Given the description of an element on the screen output the (x, y) to click on. 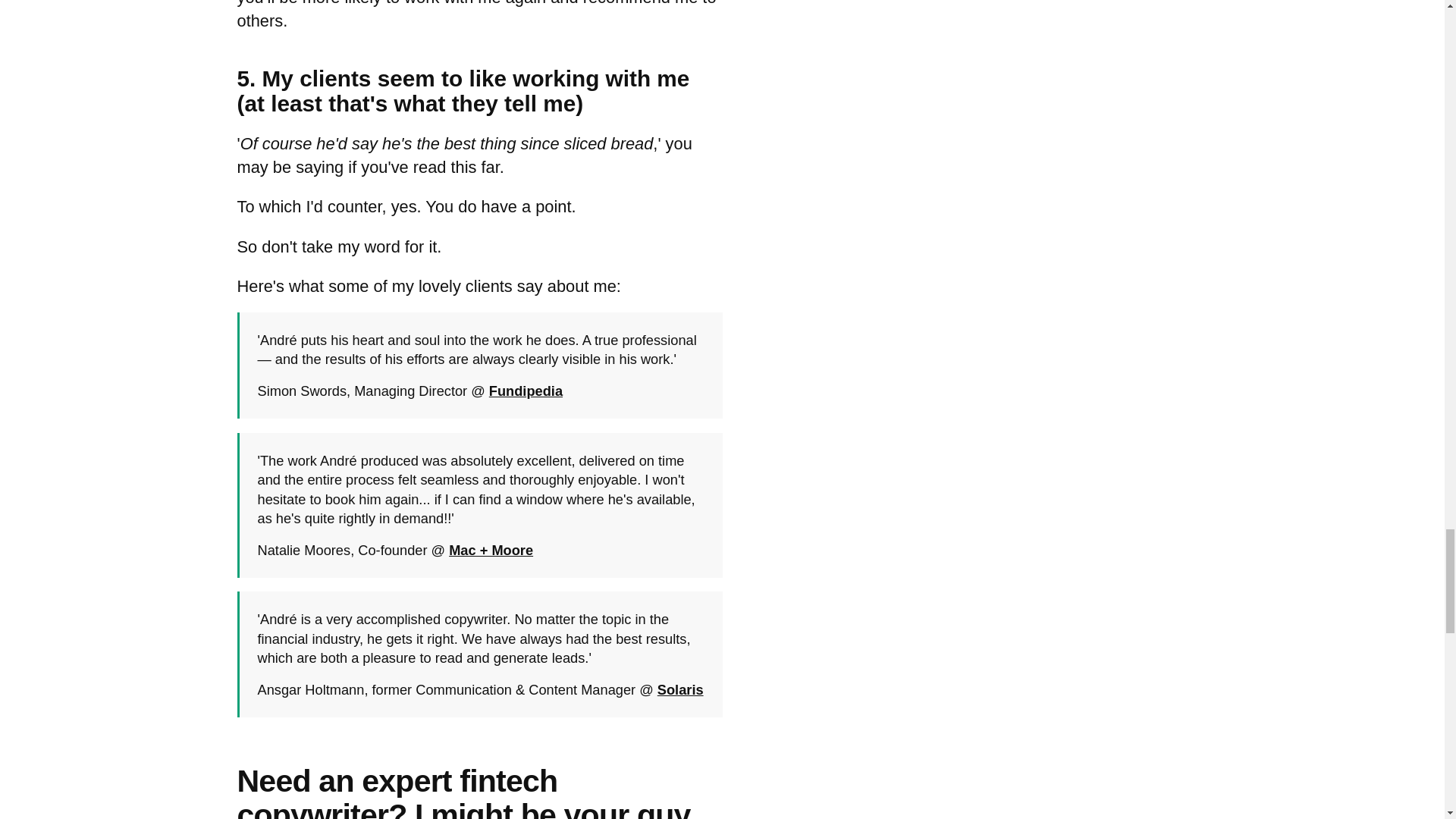
Fundipedia (525, 390)
Solaris (680, 689)
